Given the description of an element on the screen output the (x, y) to click on. 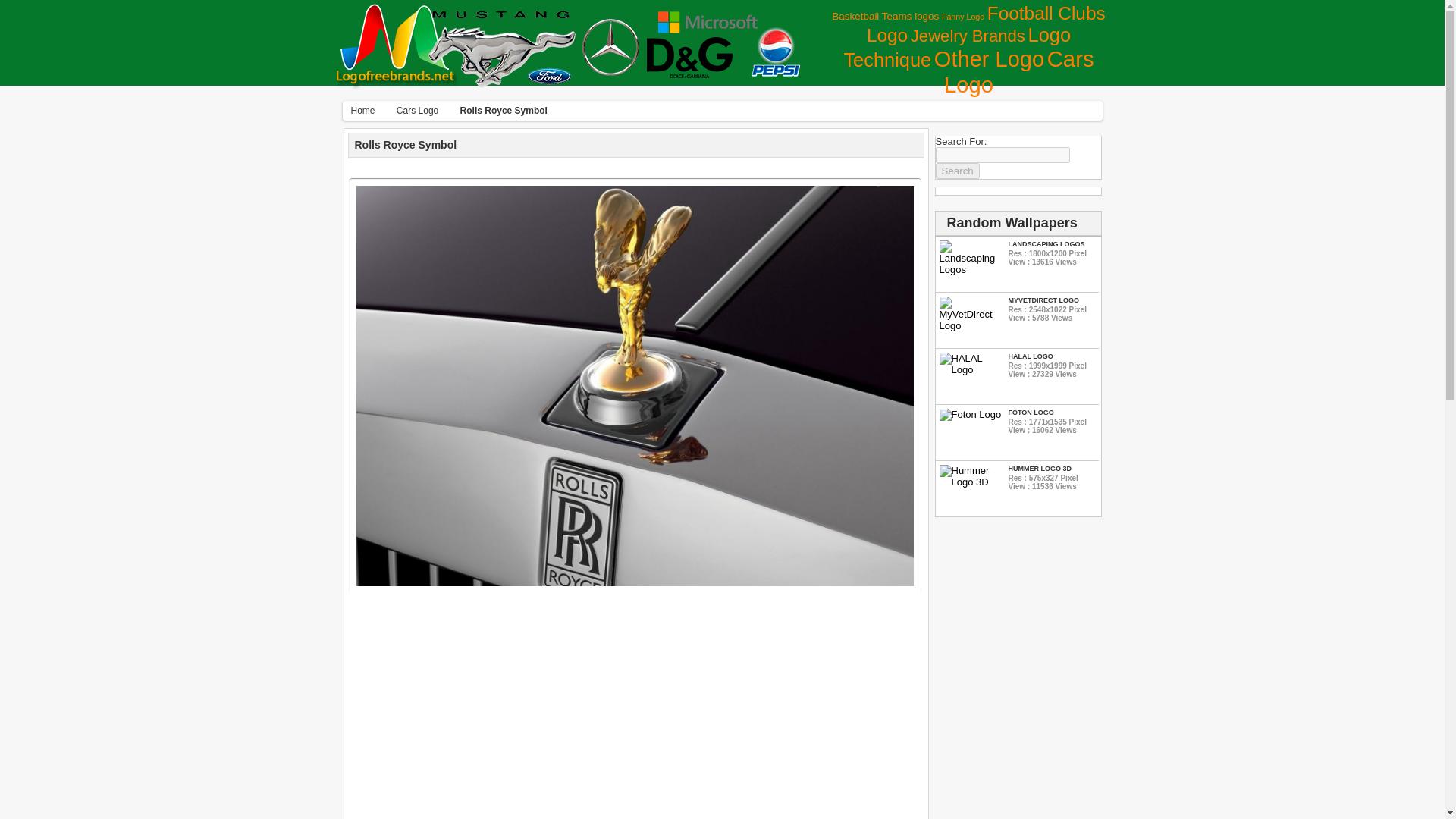
772 topics (988, 58)
Jewelry Brands (968, 35)
12 topics (963, 16)
835 topics (1018, 71)
Football Clubs Logo (985, 24)
Landscaping logos (971, 269)
277 topics (985, 24)
Search (957, 170)
Basketball Teams logos (885, 16)
